Given the description of an element on the screen output the (x, y) to click on. 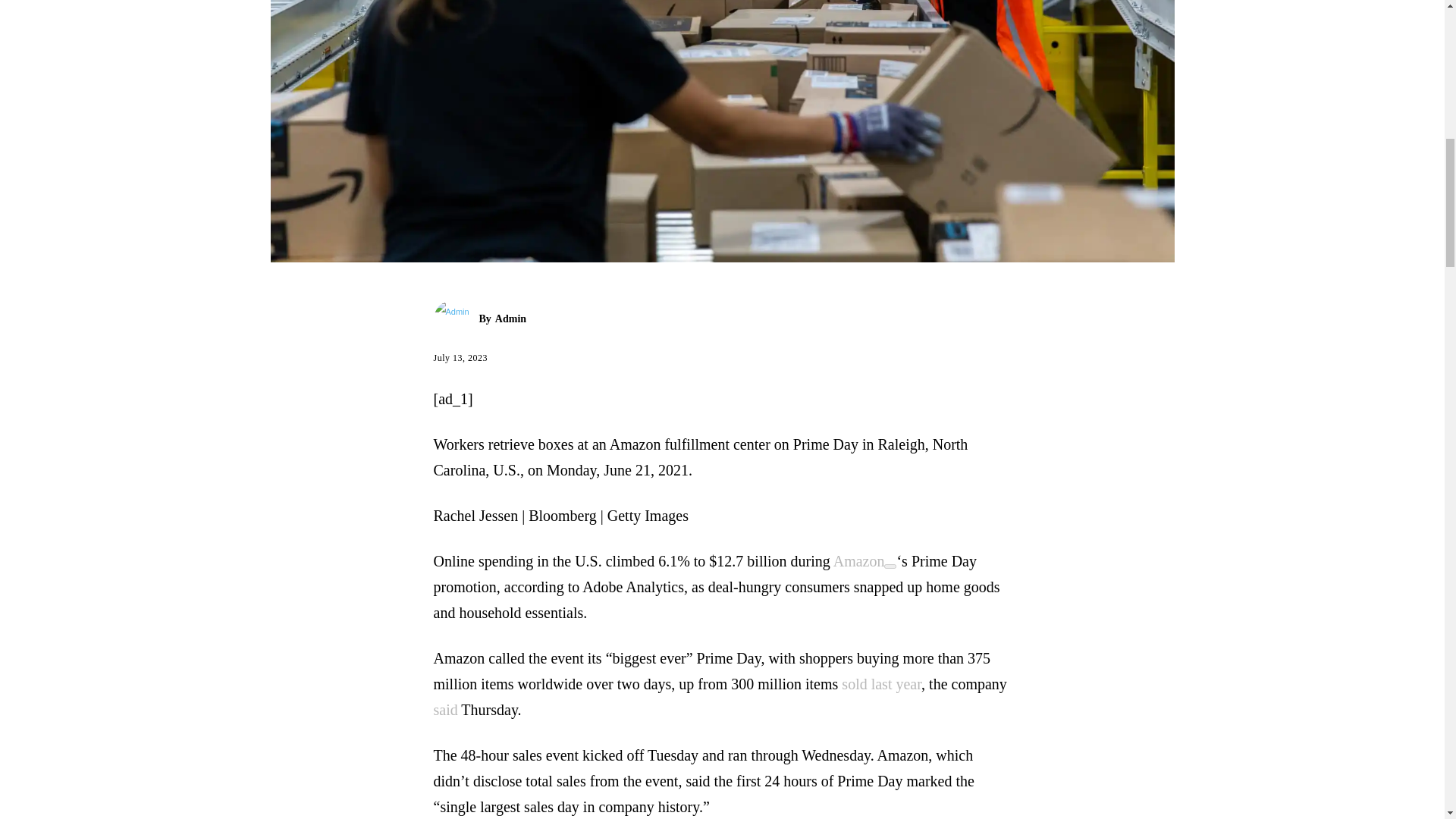
Admin (456, 319)
